Given the description of an element on the screen output the (x, y) to click on. 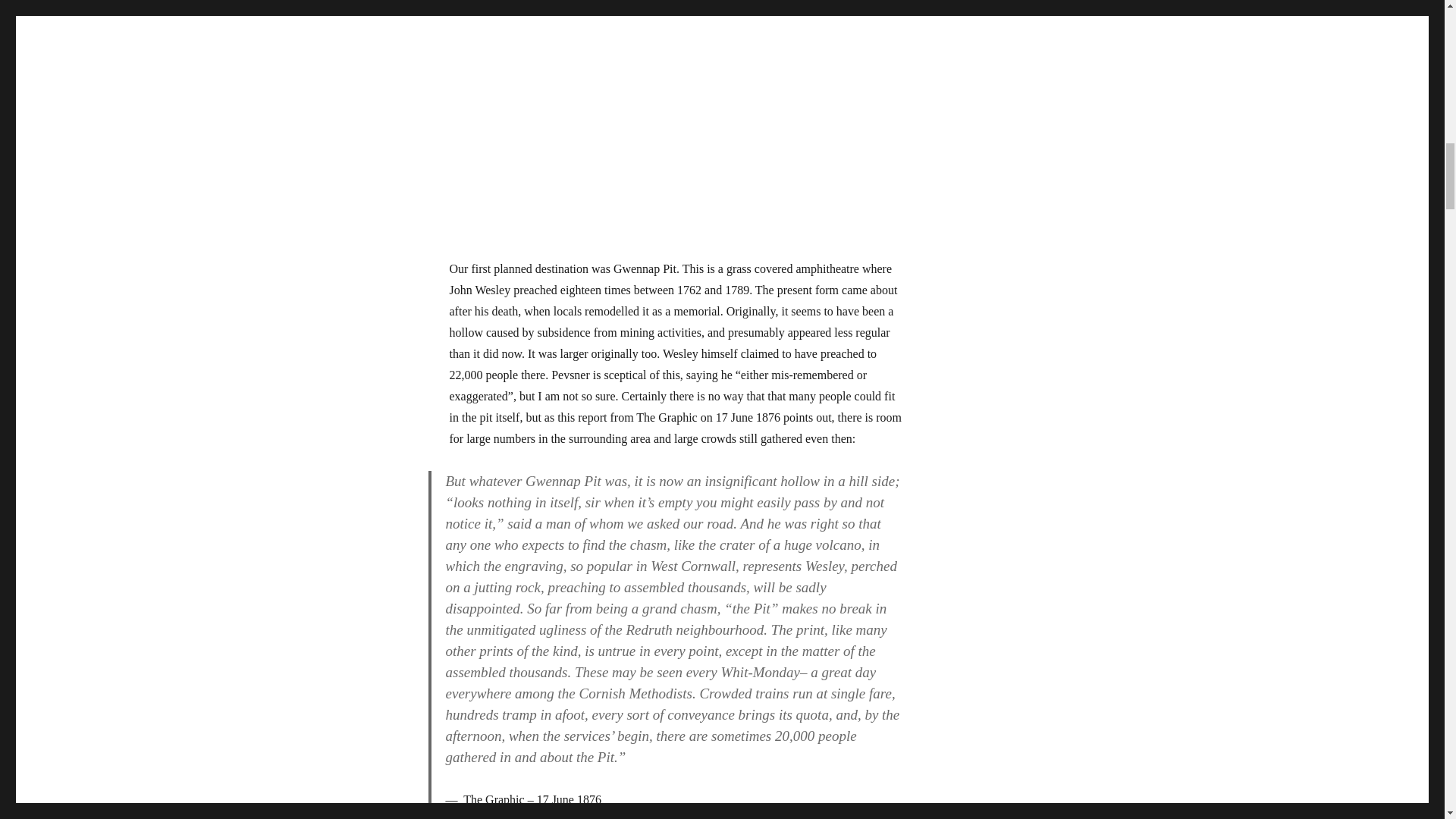
Gwennap Pit (676, 123)
